Given the description of an element on the screen output the (x, y) to click on. 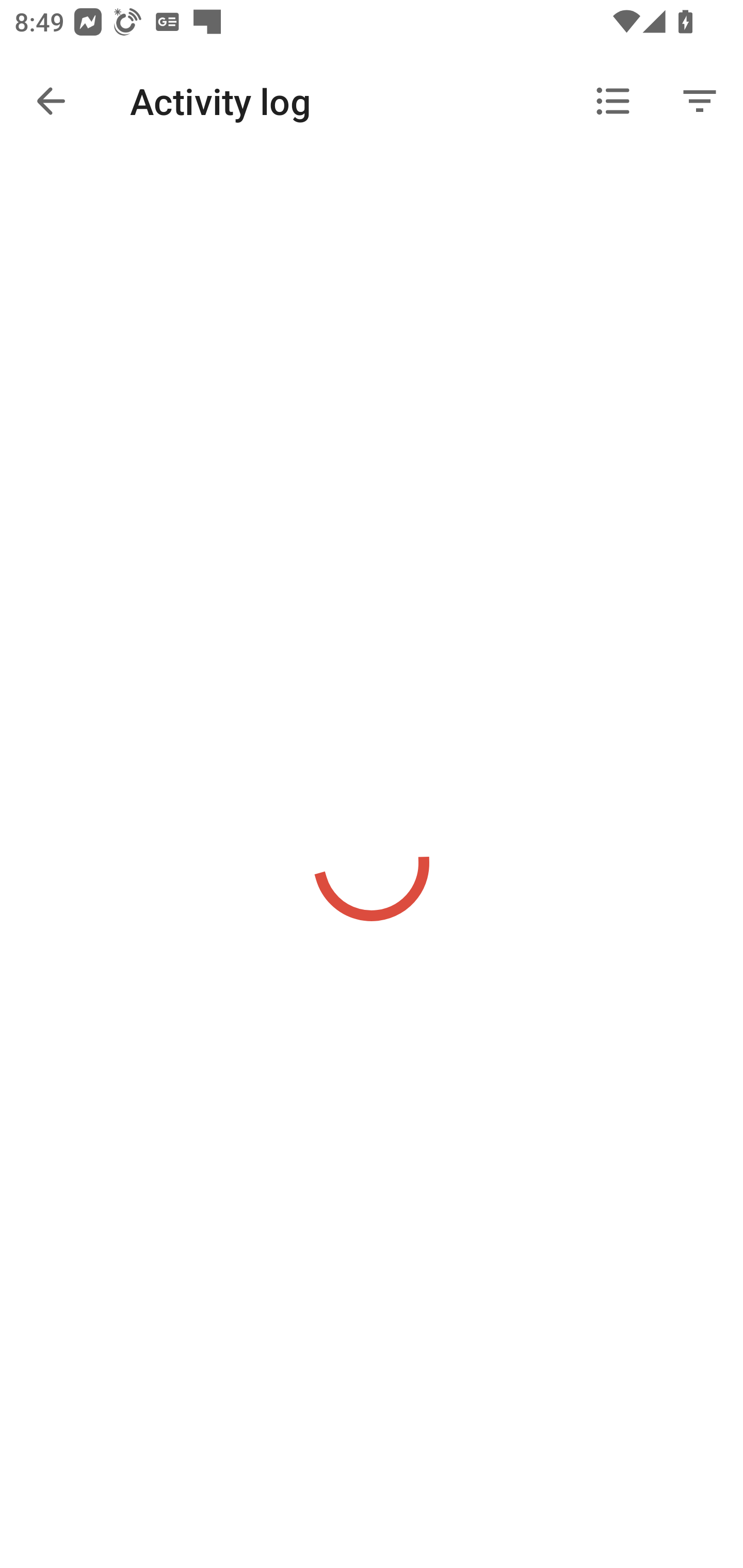
Navigate up (50, 101)
By project (612, 101)
Filter (699, 101)
